Given the description of an element on the screen output the (x, y) to click on. 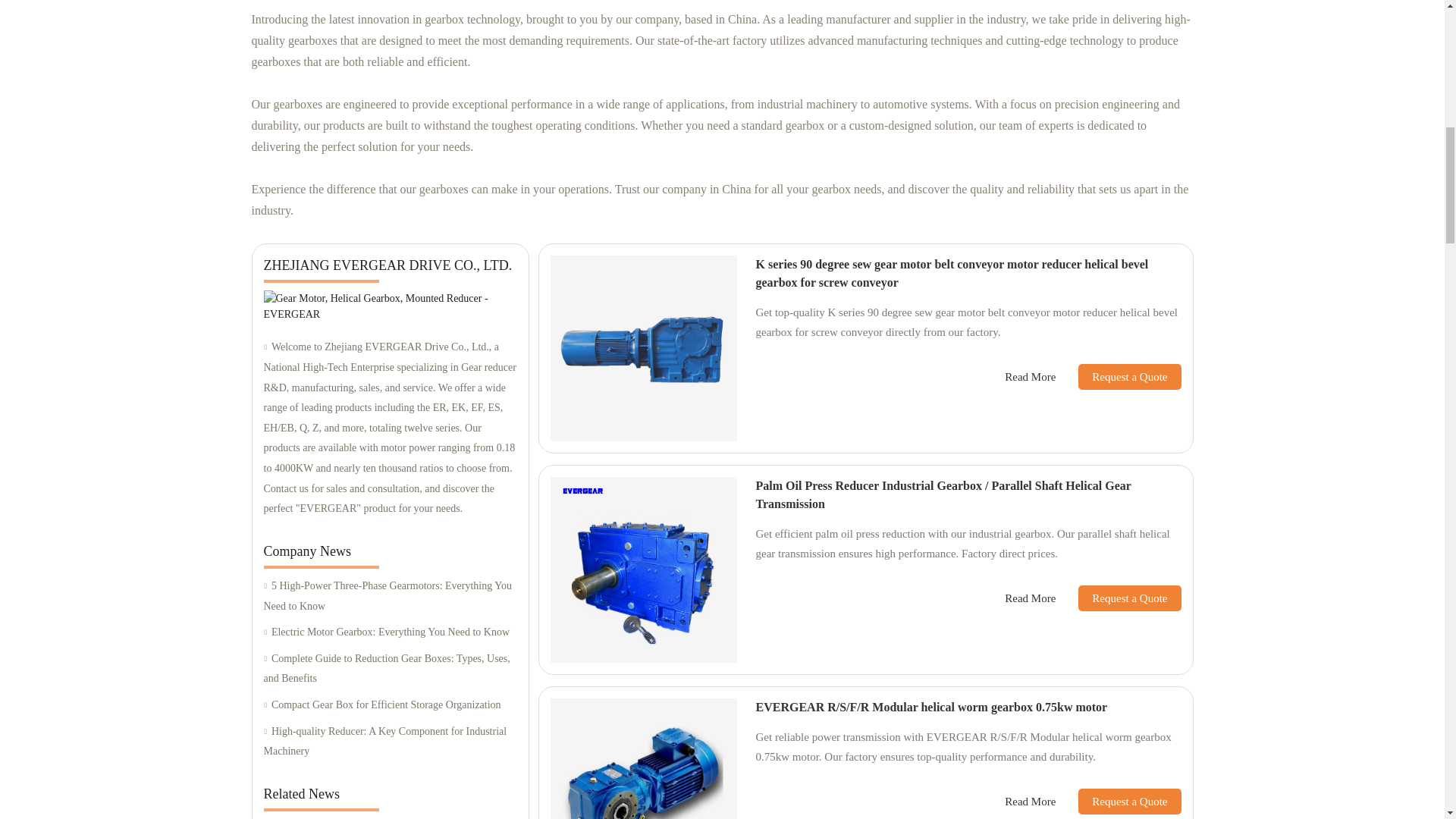
Electric Motor Gearbox: Everything You Need to Know (389, 632)
Read More (1029, 376)
Request a Quote (1117, 376)
Compact Gear Box for Efficient Storage Organization (389, 705)
